Given the description of an element on the screen output the (x, y) to click on. 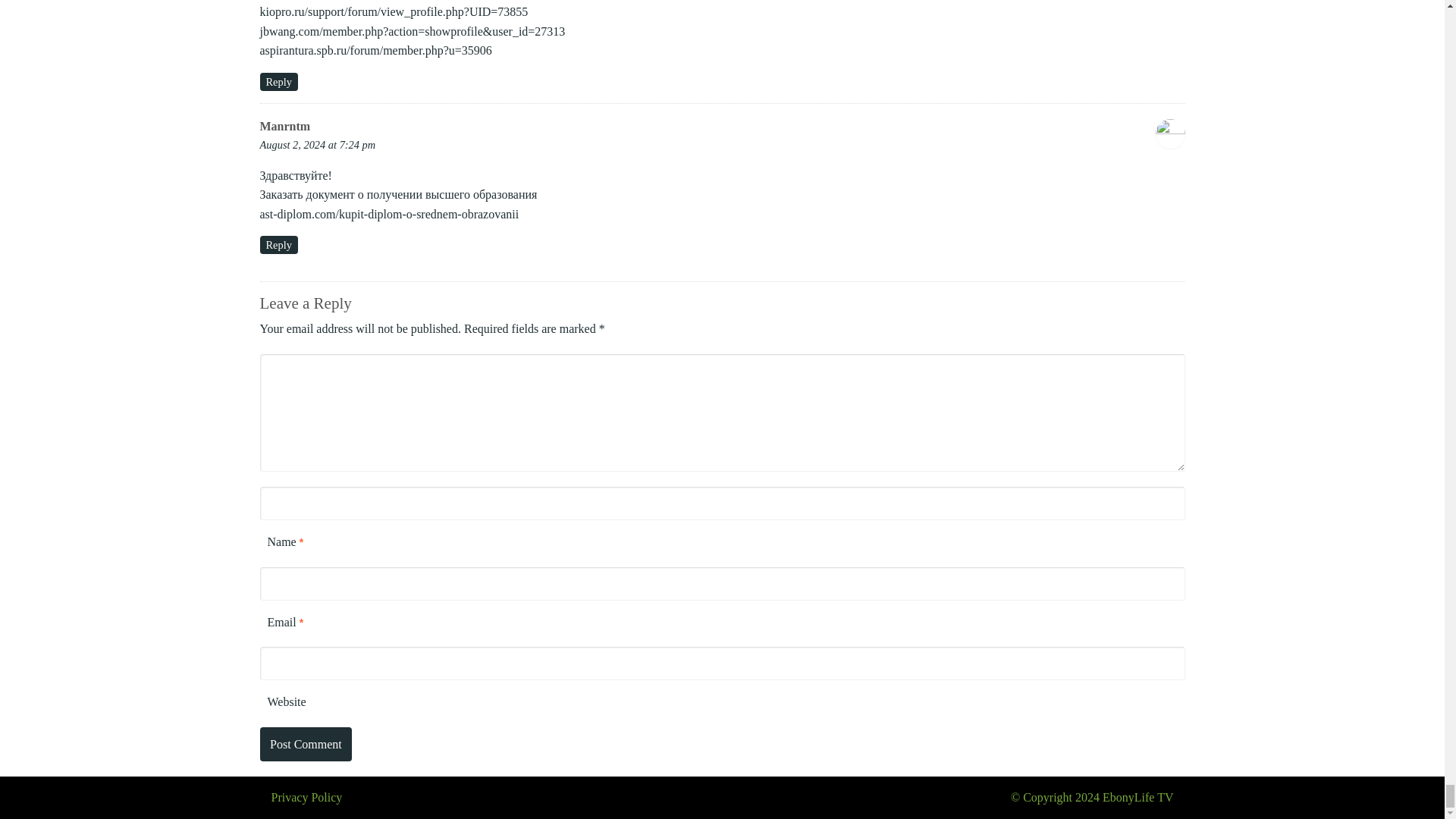
Post Comment (305, 744)
